Given the description of an element on the screen output the (x, y) to click on. 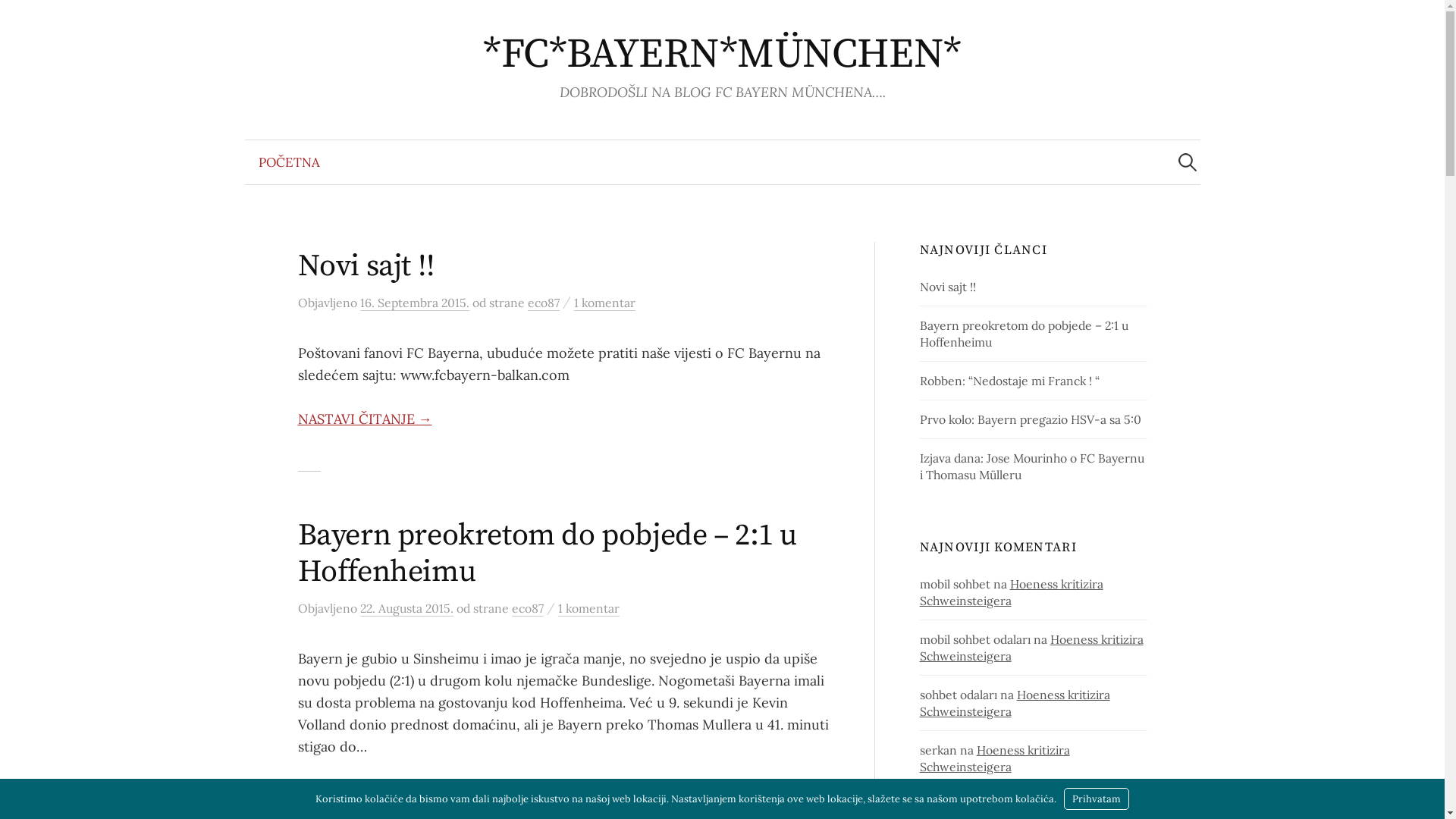
Novi sajt !! Element type: text (947, 286)
Novi sajt !! Element type: text (365, 266)
Pretraga Element type: text (18, 18)
Hoeness kritizira Schweinsteigera Element type: text (994, 758)
1 komentar
na Novi sajt !! Element type: text (603, 302)
Prvo kolo: Bayern pregazio HSV-a sa 5:0 Element type: text (1030, 418)
16. Septembra 2015. Element type: text (413, 302)
Prihvatam Element type: text (1096, 798)
Hoeness kritizira Schweinsteigera Element type: text (1031, 647)
Hoeness kritizira Schweinsteigera Element type: text (1011, 592)
22. Augusta 2015. Element type: text (405, 608)
Hoeness kritizira Schweinsteigera Element type: text (1014, 702)
eco87 Element type: text (526, 608)
eco87 Element type: text (543, 302)
